Given the description of an element on the screen output the (x, y) to click on. 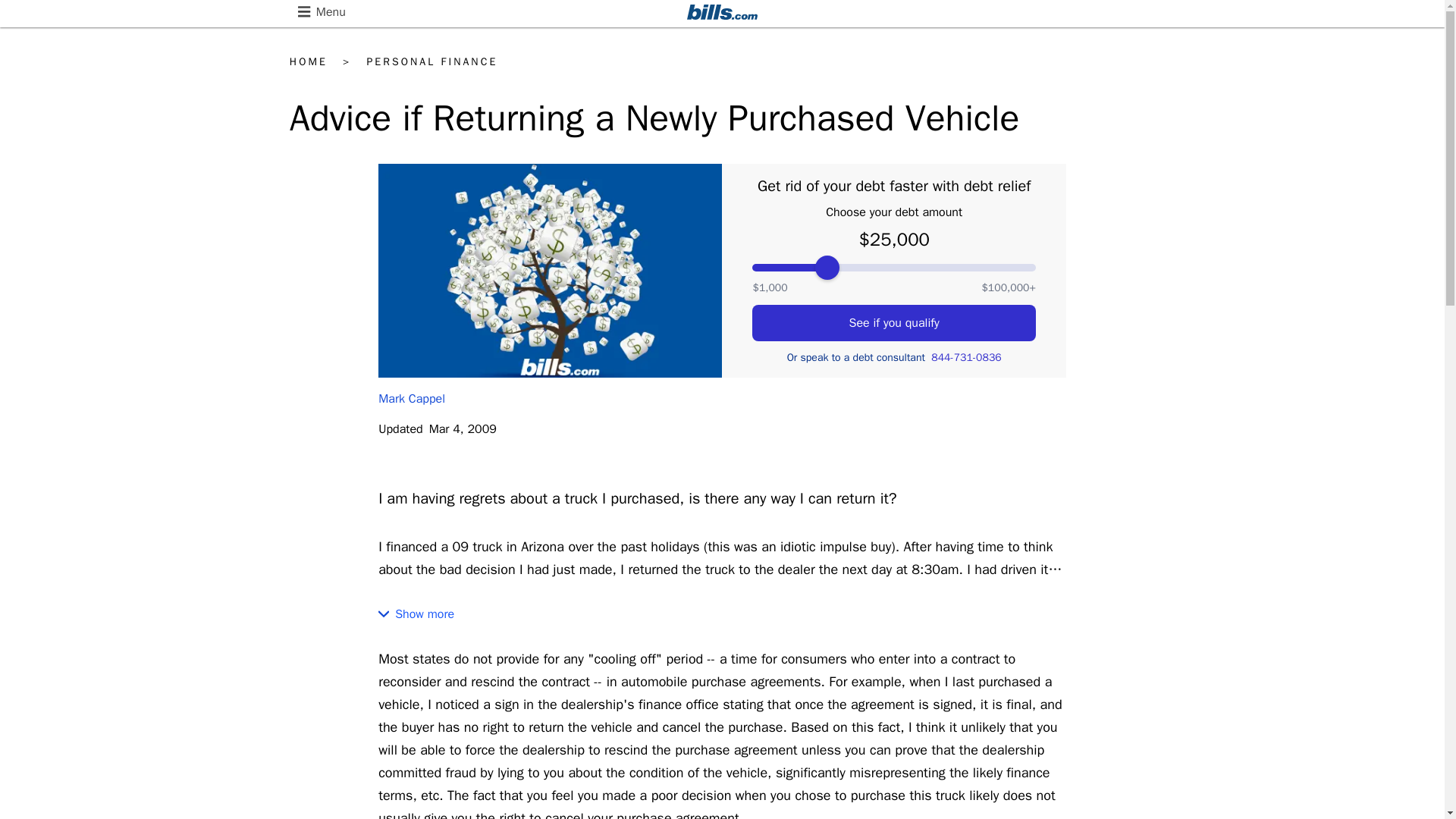
25000 (893, 267)
